Given the description of an element on the screen output the (x, y) to click on. 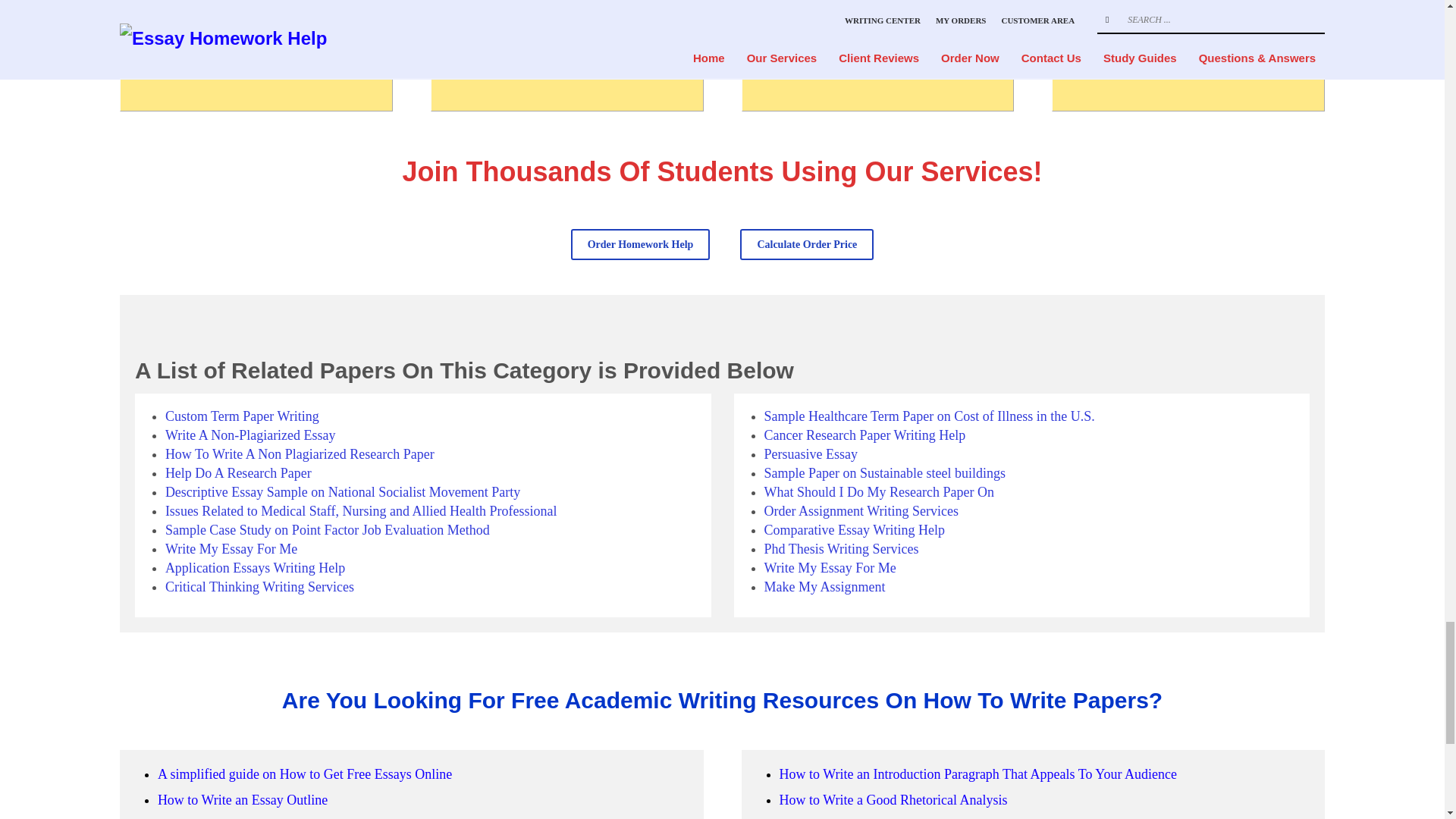
Write A Non-Plagiarized Essay (250, 435)
Help Do A Research Paper (238, 473)
Application Essays Writing Help (255, 567)
Custom Term Paper Writing (241, 416)
How To Write A Non Plagiarized Research Paper (299, 453)
Calculate Order Price (806, 244)
Order Homework Help (640, 244)
Sample Case Study on Point Factor Job Evaluation Method (327, 529)
Write My Essay For Me (231, 548)
